Given the description of an element on the screen output the (x, y) to click on. 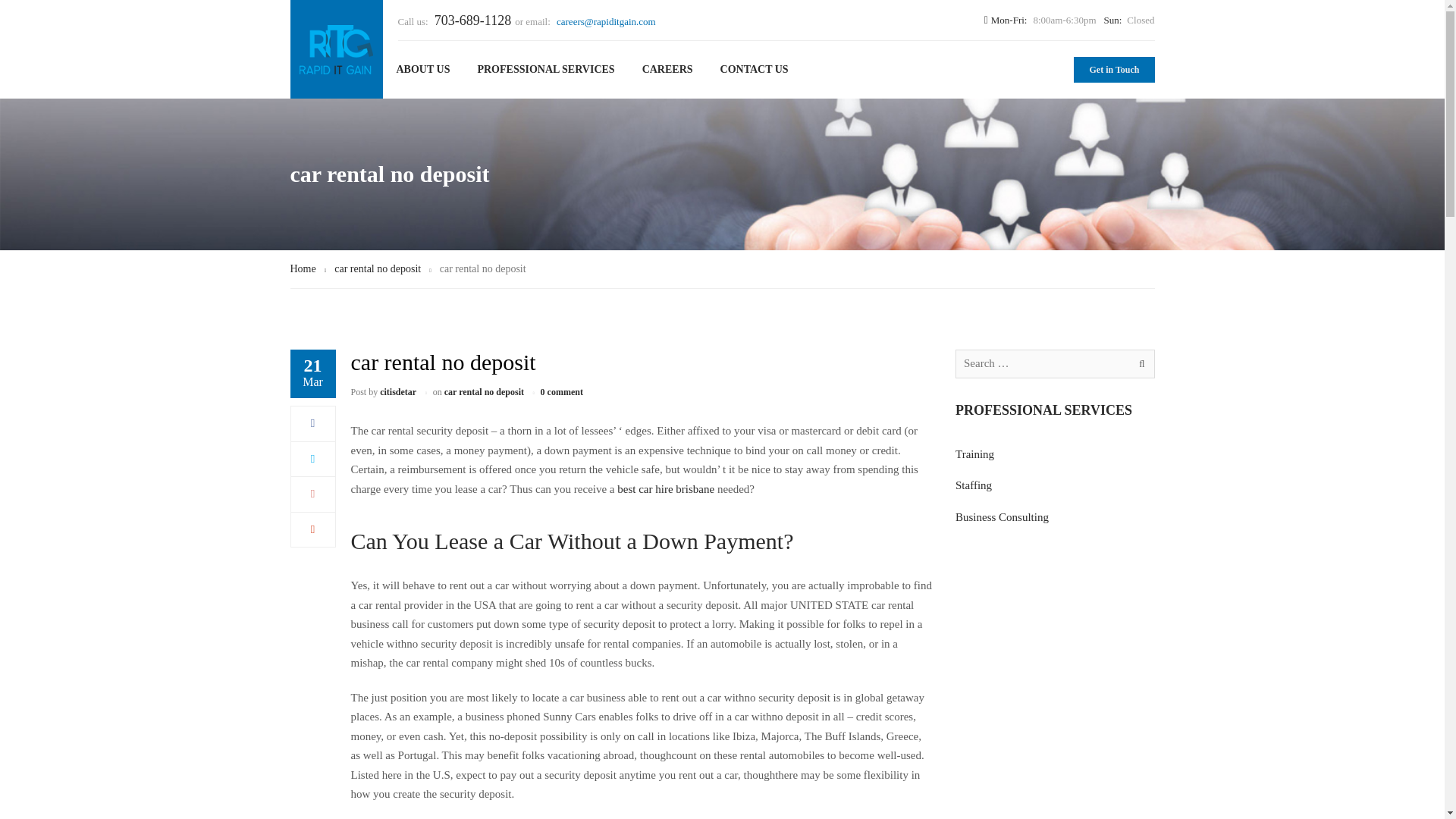
Training (974, 453)
Business Consulting (773, 632)
Home (302, 268)
CAREERS (667, 69)
Staffing (749, 601)
Contact Us (606, 663)
Facebook (312, 422)
best car hire brisbane (665, 488)
car rental no deposit (377, 268)
Home (302, 268)
CONTACT US (754, 69)
Google Plus (312, 493)
Pinterest (312, 529)
Training (750, 570)
citisdetar (398, 391)
